Given the description of an element on the screen output the (x, y) to click on. 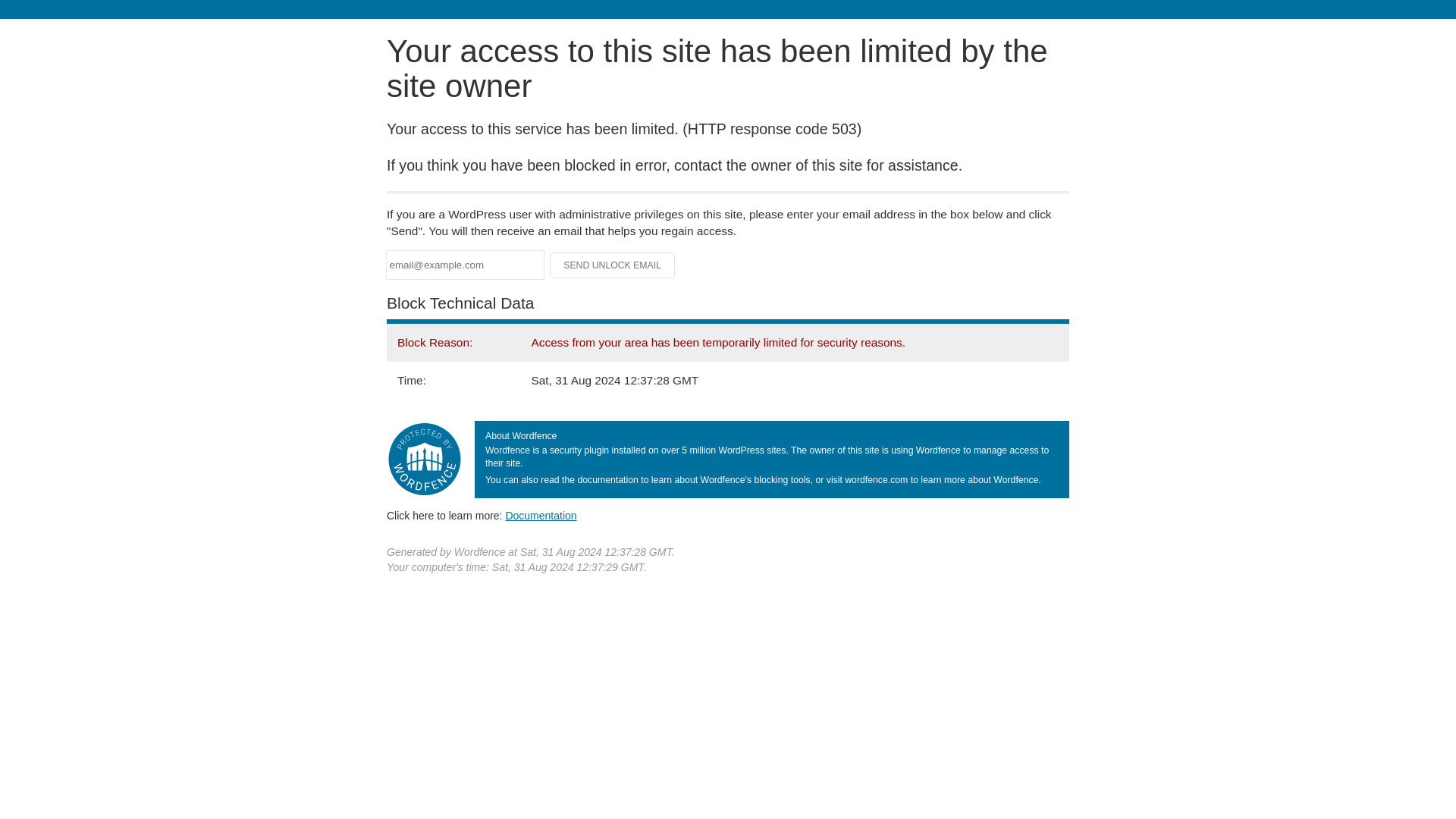
Send Unlock Email (612, 265)
Documentation (540, 515)
Send Unlock Email (612, 265)
